Given the description of an element on the screen output the (x, y) to click on. 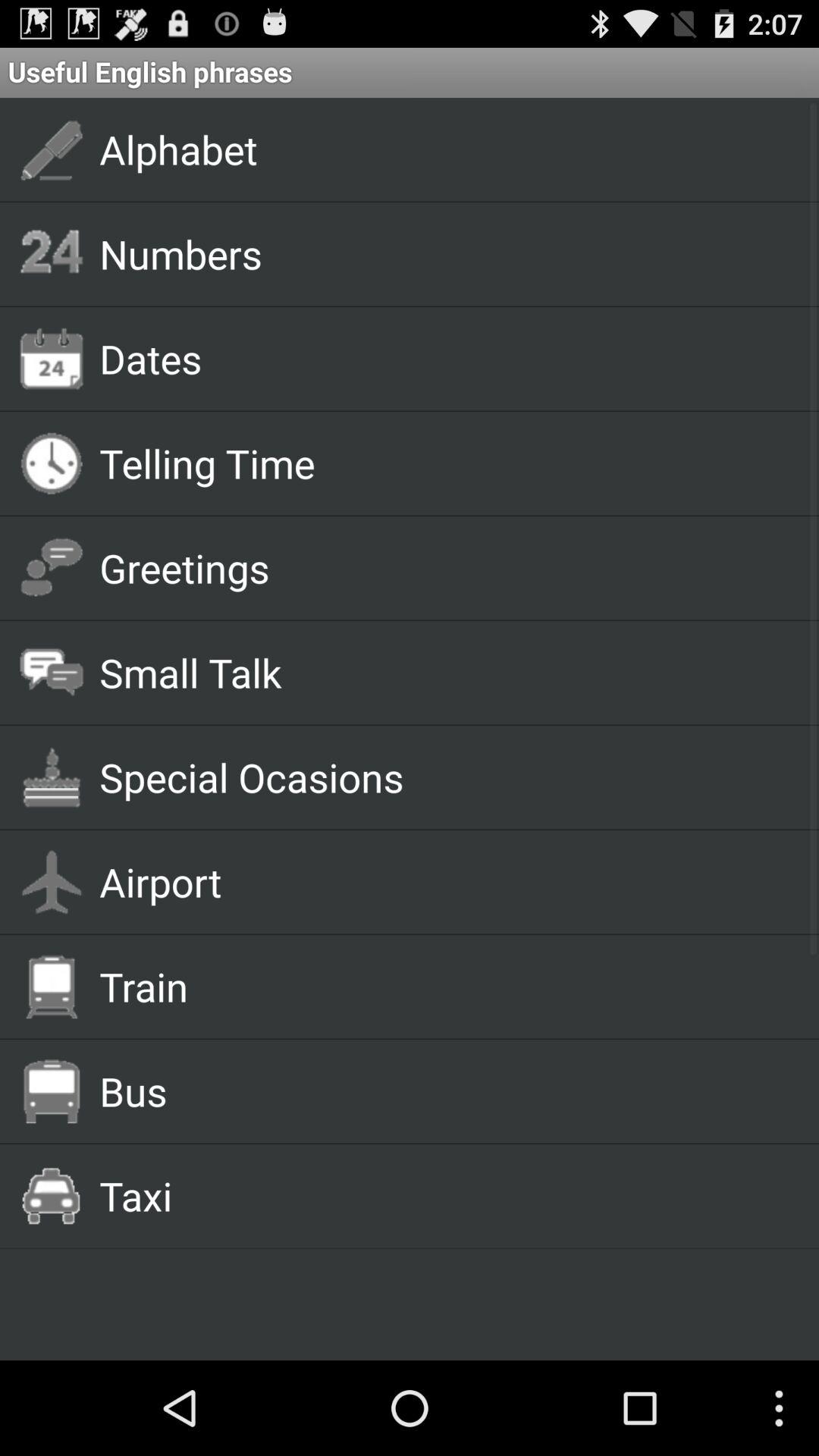
swipe to small talk (441, 672)
